Given the description of an element on the screen output the (x, y) to click on. 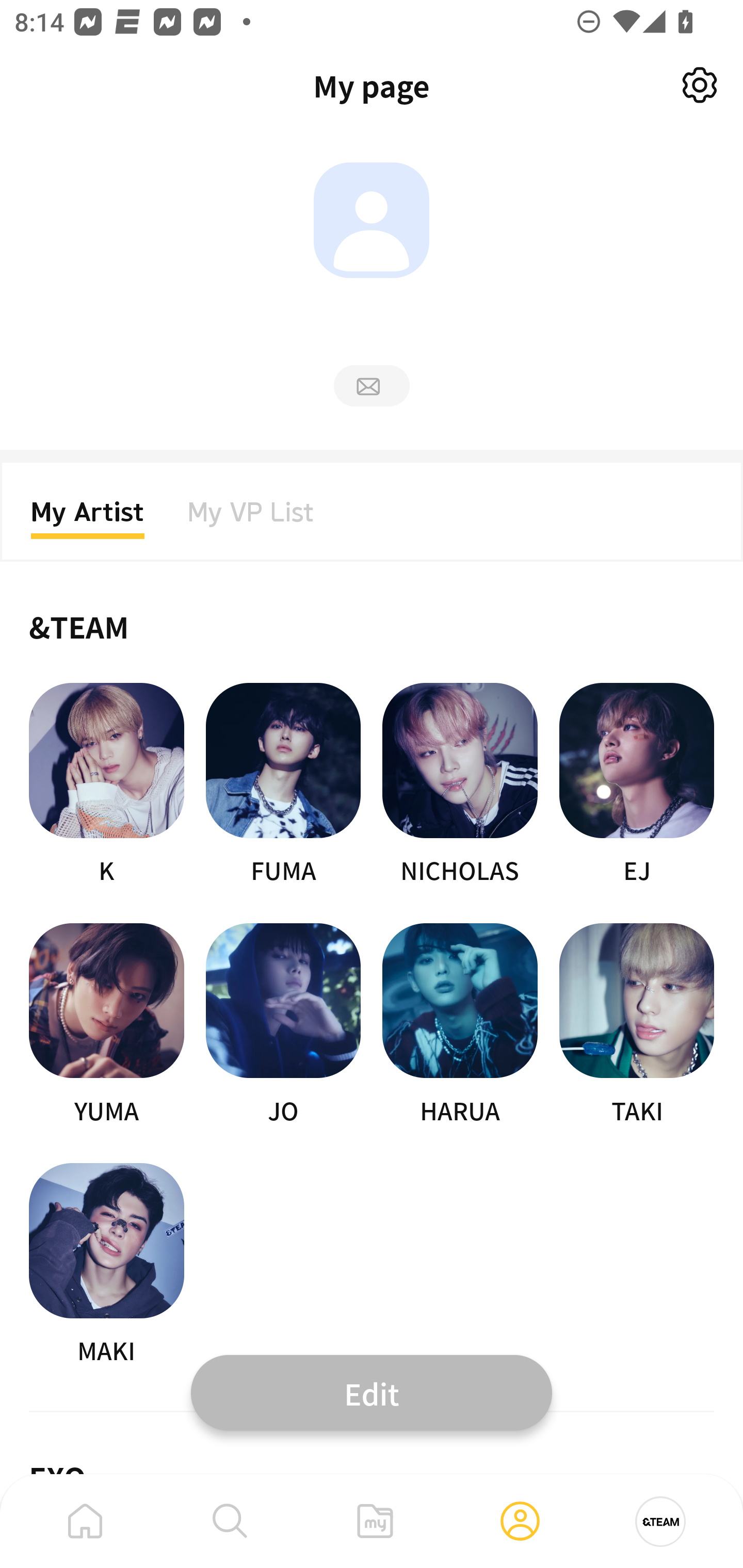
My Artist (87, 517)
My VP List (250, 517)
K (106, 785)
FUMA (282, 785)
NICHOLAS (459, 785)
EJ (636, 785)
YUMA (106, 1025)
JO (282, 1025)
HARUA (459, 1025)
TAKI (636, 1025)
MAKI (106, 1265)
Edit (371, 1392)
